Given the description of an element on the screen output the (x, y) to click on. 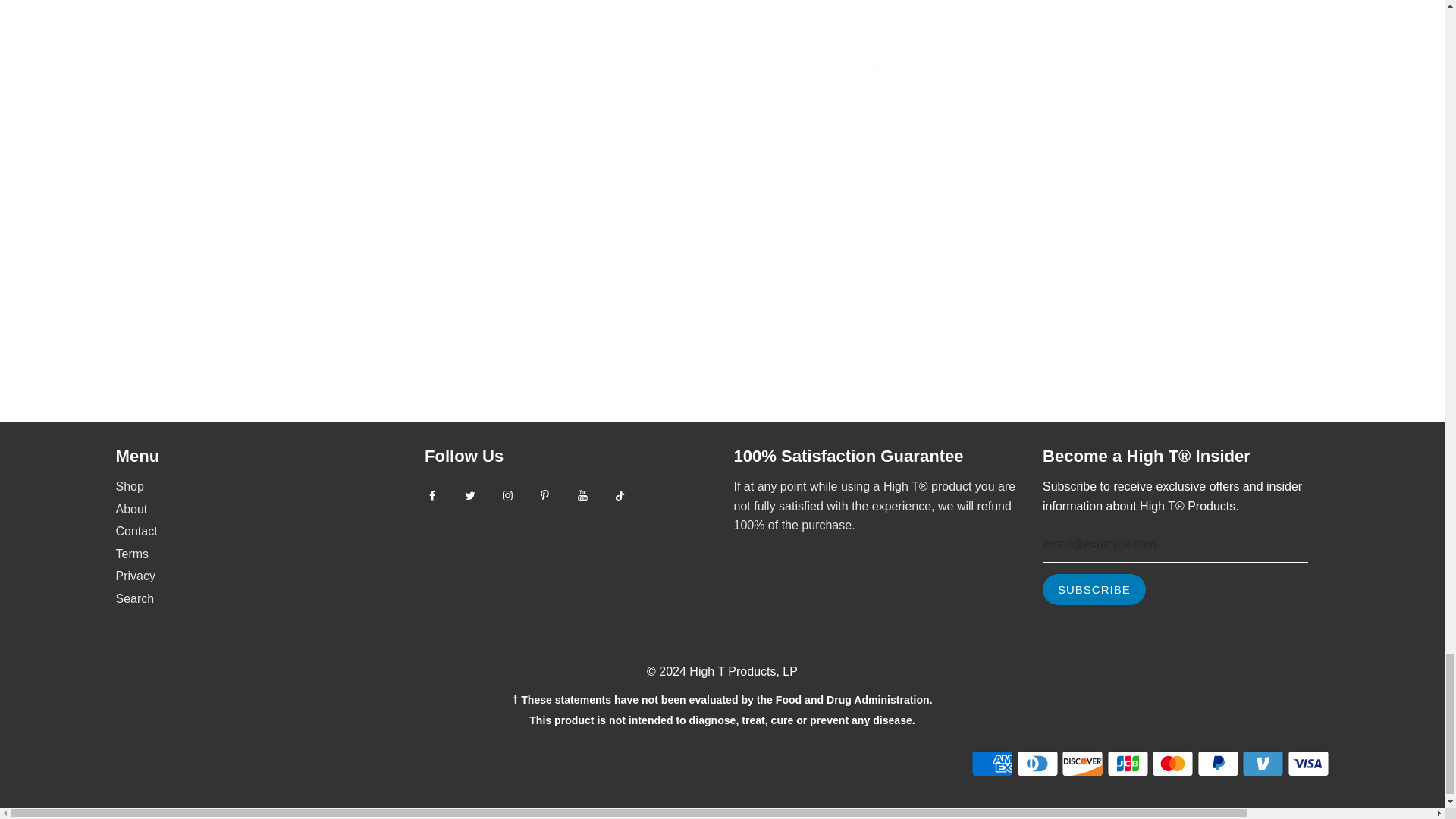
JCB (1127, 763)
Visa (1308, 763)
Venmo (1262, 763)
Mastercard (1172, 763)
Subscribe (1093, 589)
Diners Club (1037, 763)
PayPal (1217, 763)
American Express (992, 763)
Discover (1082, 763)
